Given the description of an element on the screen output the (x, y) to click on. 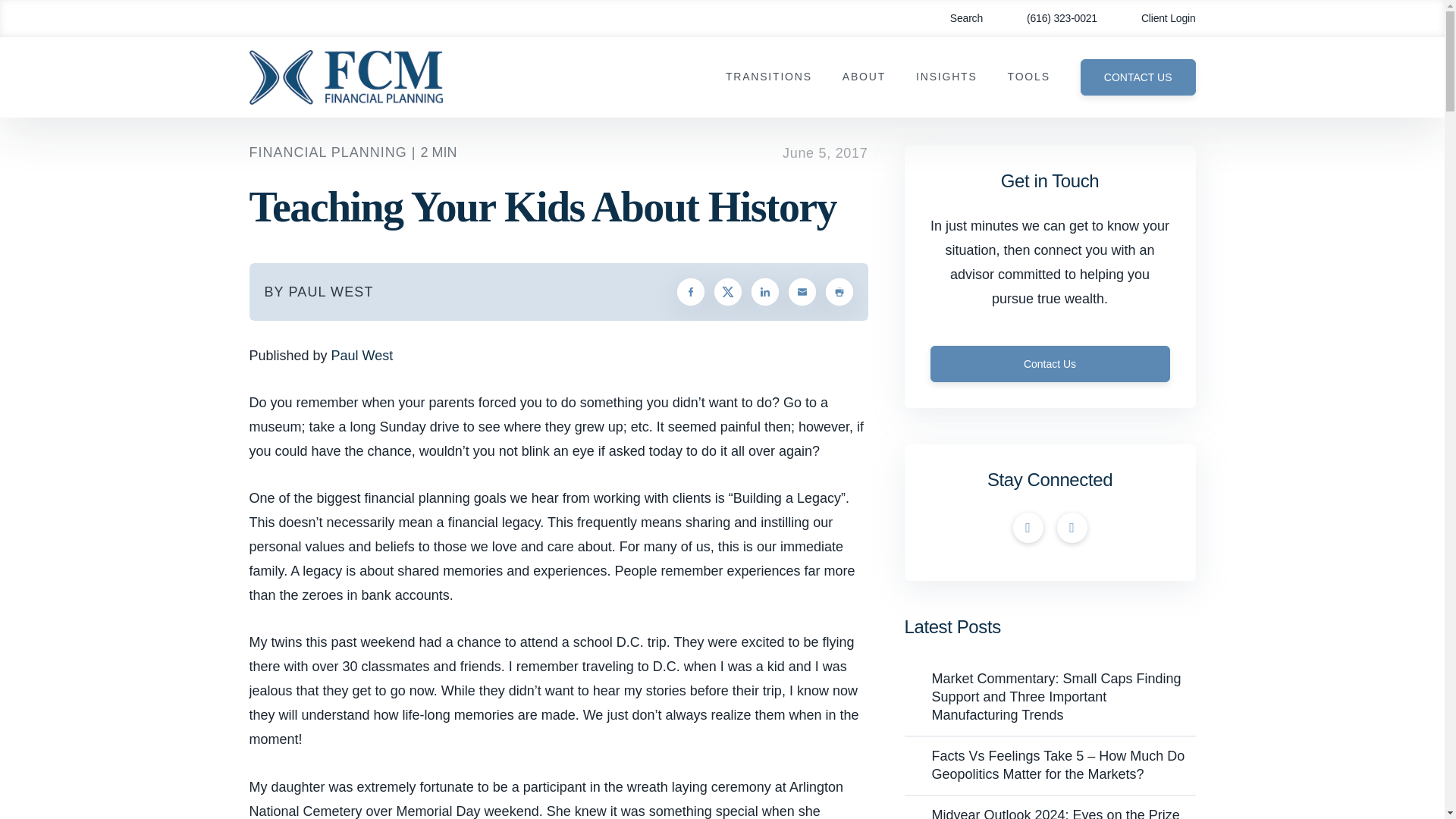
TOOLS (1028, 77)
TRANSITIONS (768, 77)
ABOUT (864, 77)
Search (955, 18)
INSIGHTS (945, 77)
Client Login (1157, 18)
CONTACT US (1137, 76)
